Given the description of an element on the screen output the (x, y) to click on. 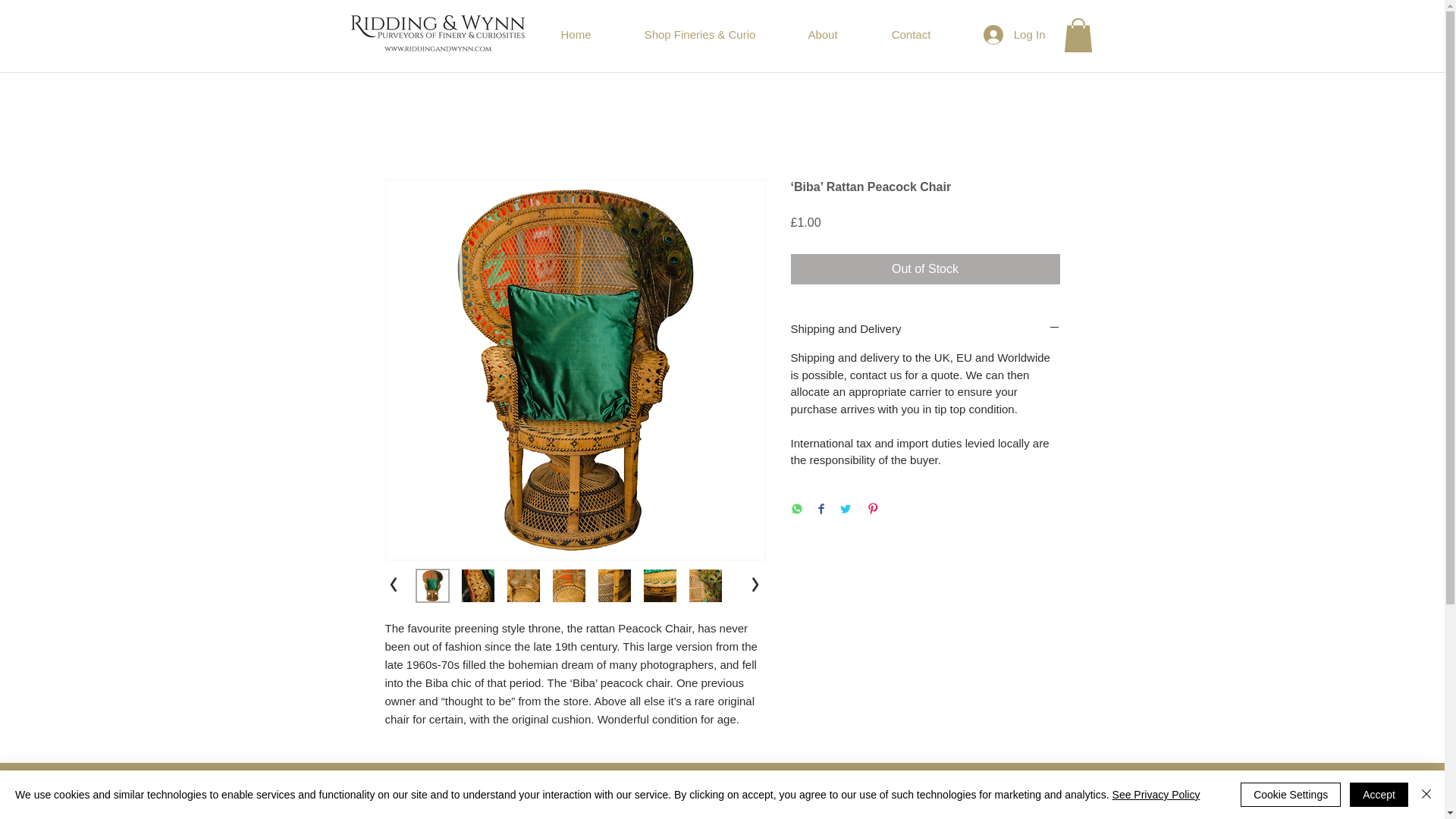
Shipping and Delivery (924, 328)
Contact (910, 33)
Log In (1014, 33)
About (823, 33)
Home (575, 33)
Out of Stock (924, 268)
Top (721, 813)
